Given the description of an element on the screen output the (x, y) to click on. 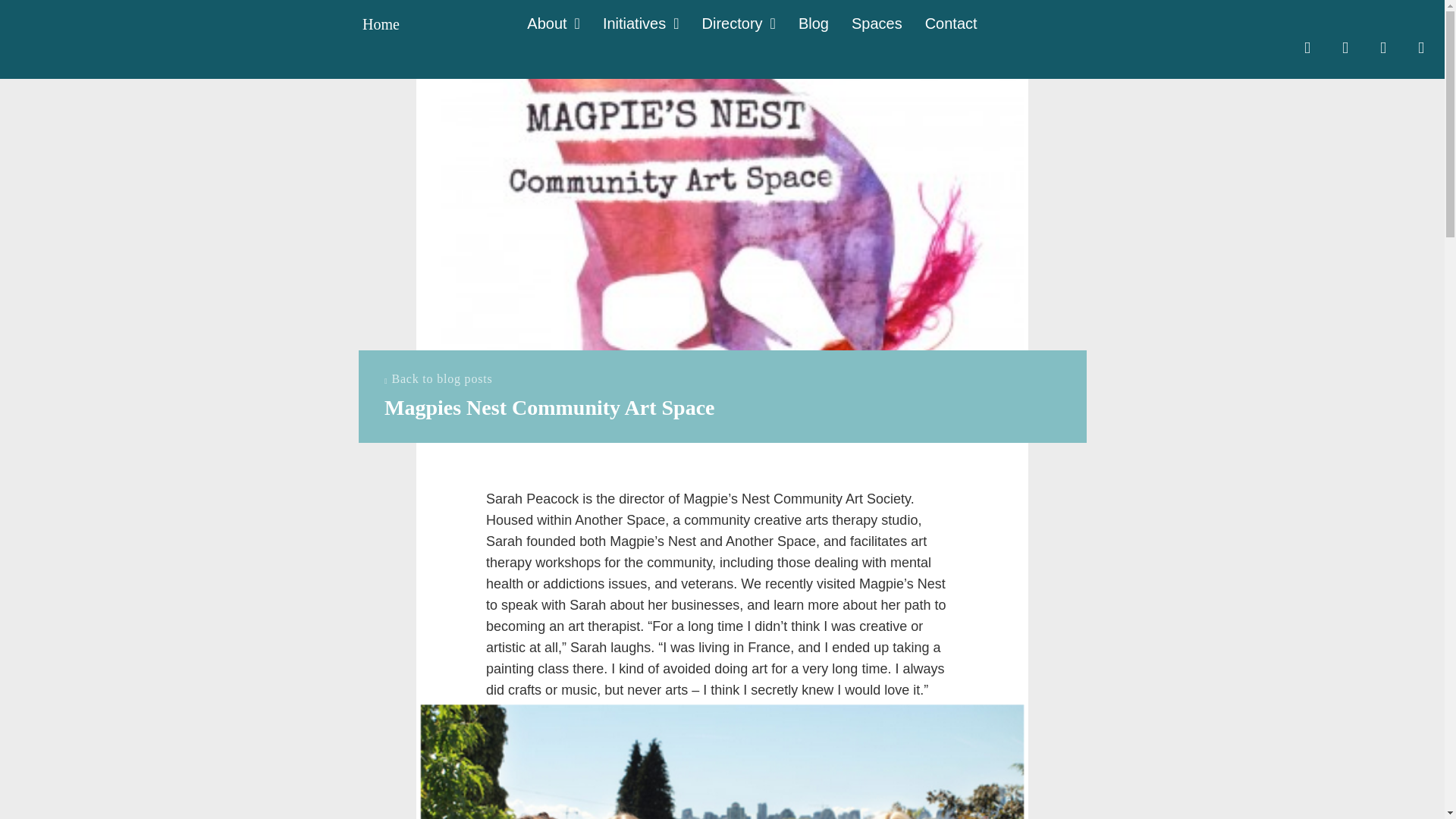
Contact (950, 23)
About (553, 23)
Spaces (876, 23)
Initiatives (640, 23)
Directory (738, 23)
Blog (812, 23)
Home (380, 23)
